Given the description of an element on the screen output the (x, y) to click on. 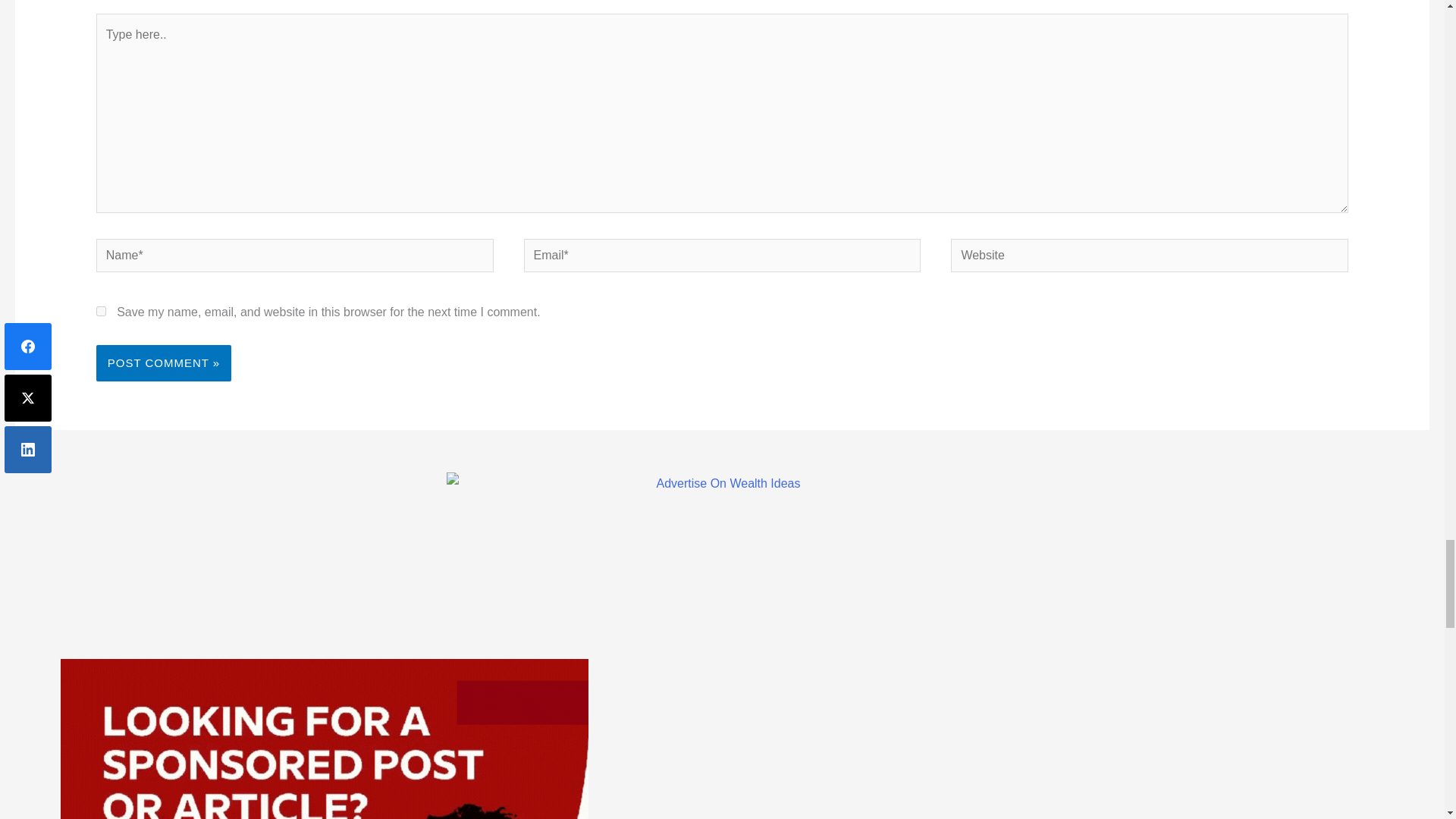
wealth-ideas-sponsored-post (324, 739)
yes (101, 311)
